Given the description of an element on the screen output the (x, y) to click on. 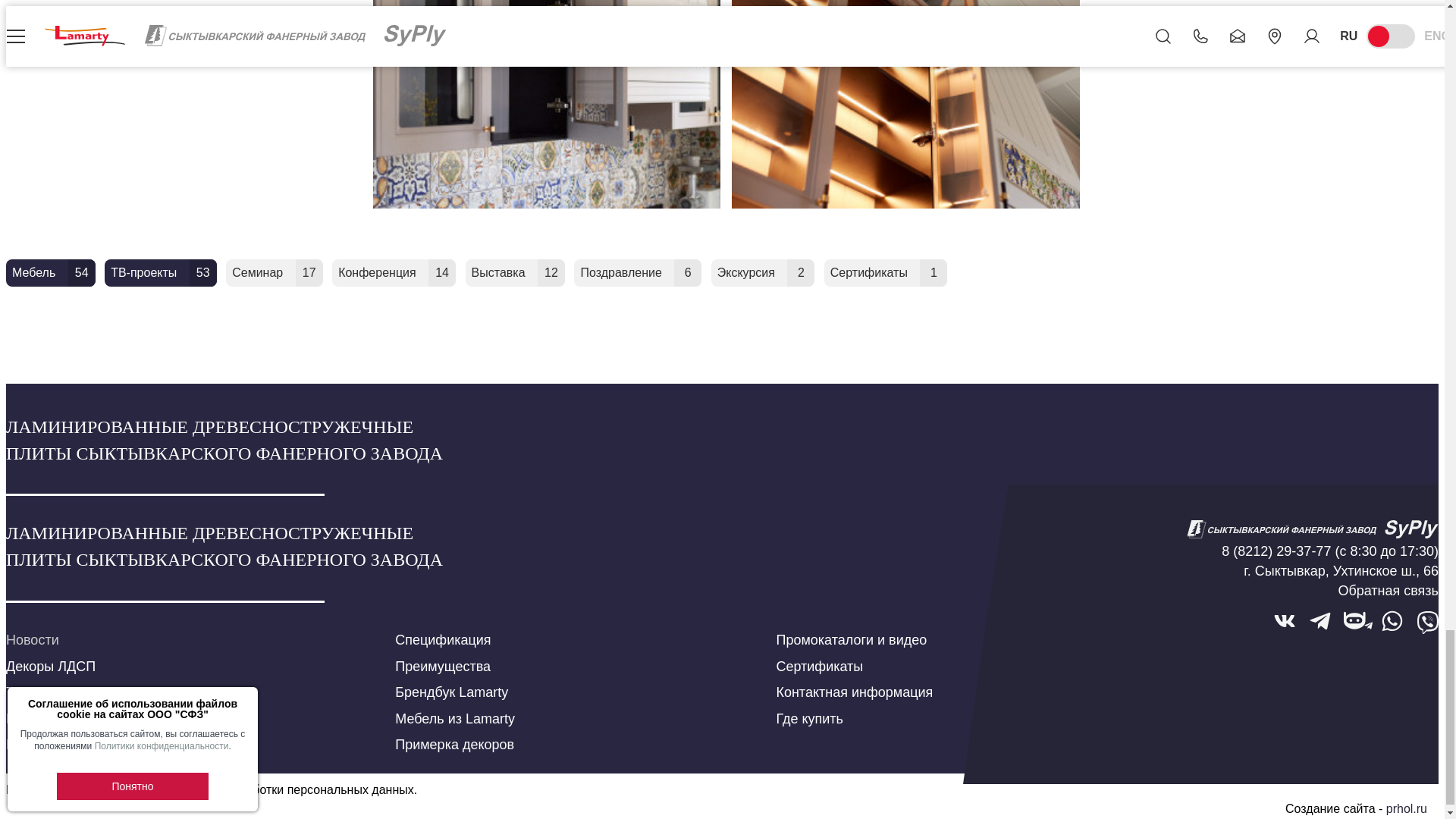
Telegram (1319, 622)
WhatsApp (1392, 622)
Telegram (1355, 622)
